Given the description of an element on the screen output the (x, y) to click on. 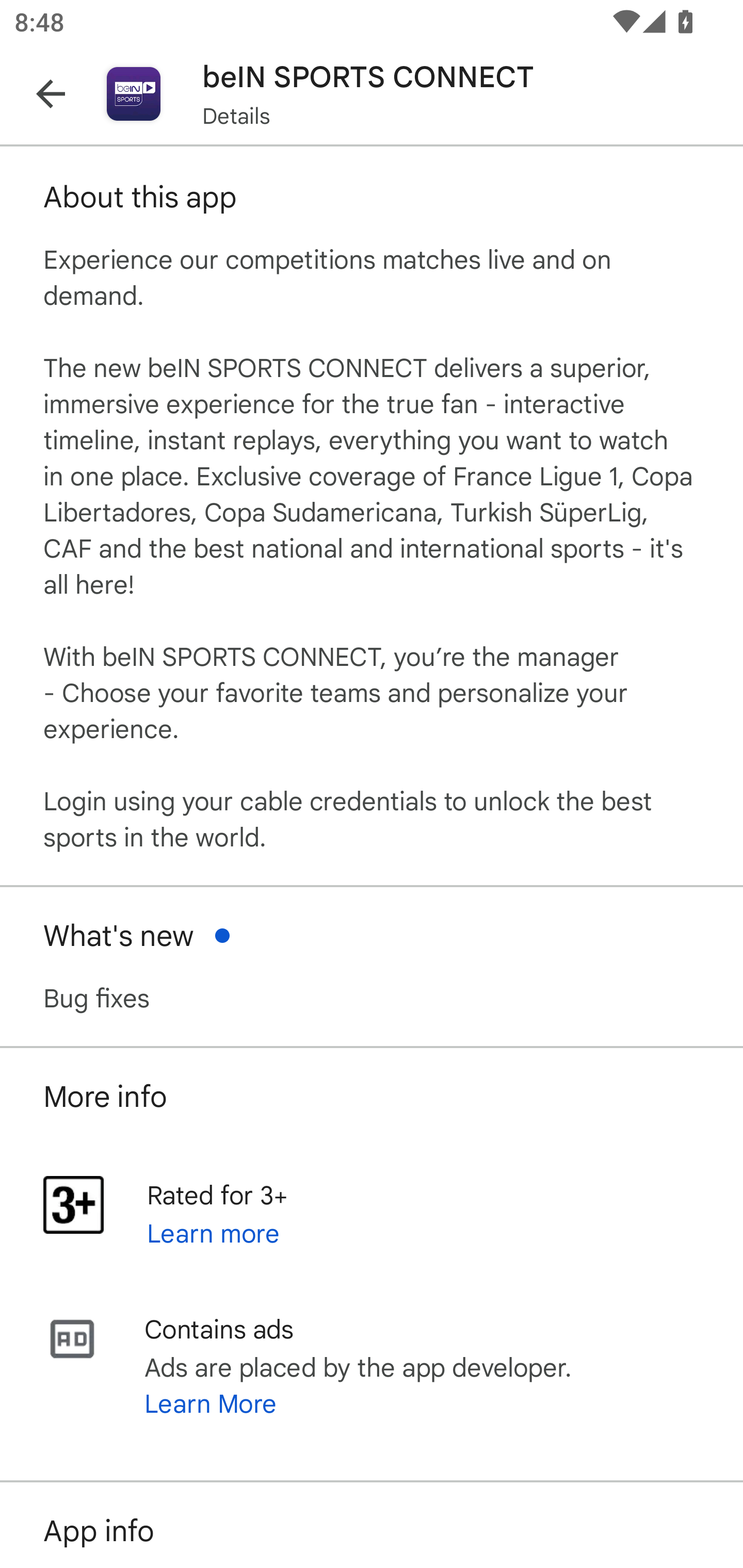
Navigate up (50, 93)
